Given the description of an element on the screen output the (x, y) to click on. 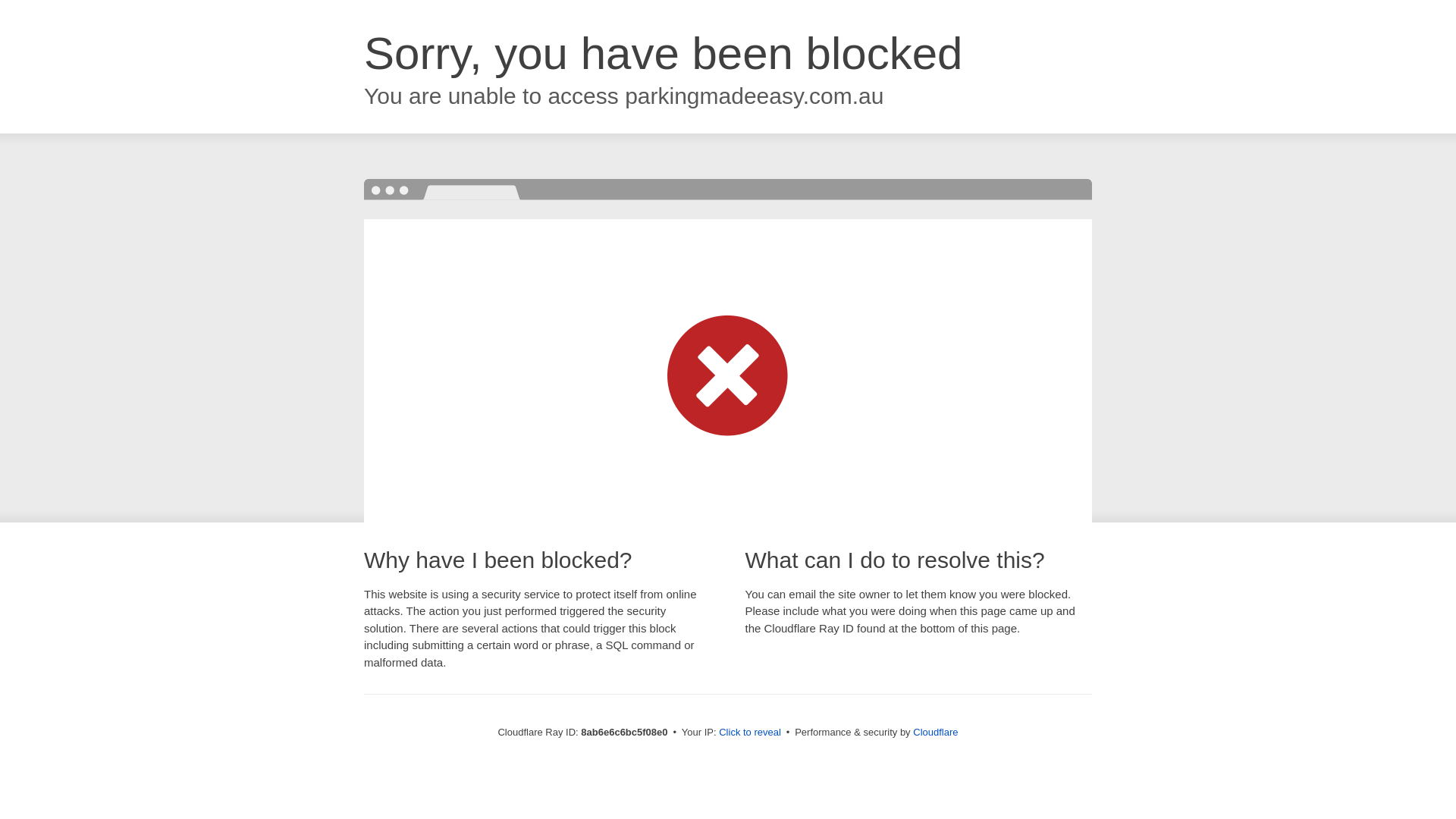
Cloudflare (935, 731)
Click to reveal (749, 732)
